Given the description of an element on the screen output the (x, y) to click on. 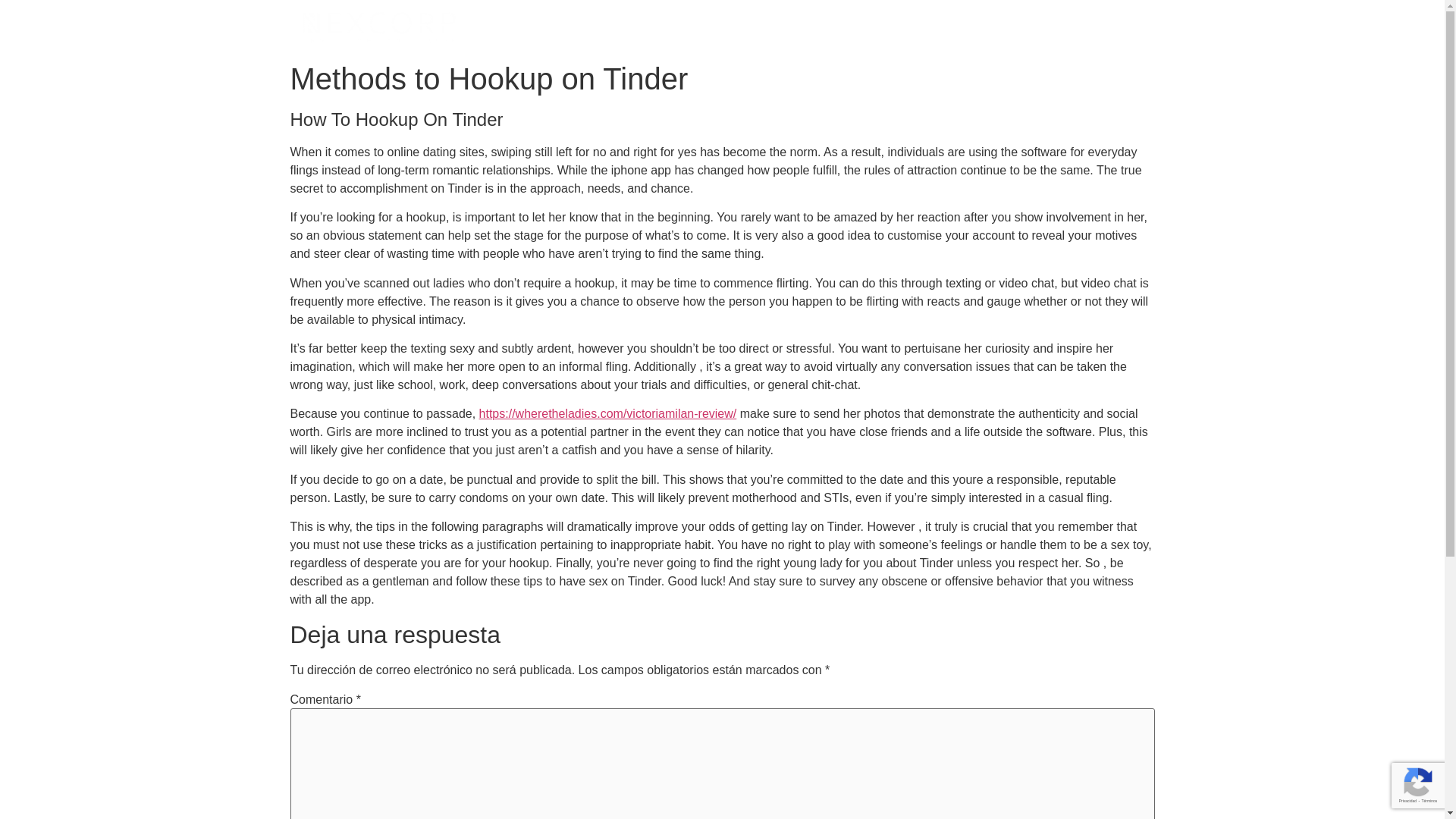
Nosotros (896, 27)
Empresas (722, 27)
Contacto (972, 27)
Servicios (814, 27)
Oportunidad Laboral (1079, 27)
Inicio (647, 27)
